Given the description of an element on the screen output the (x, y) to click on. 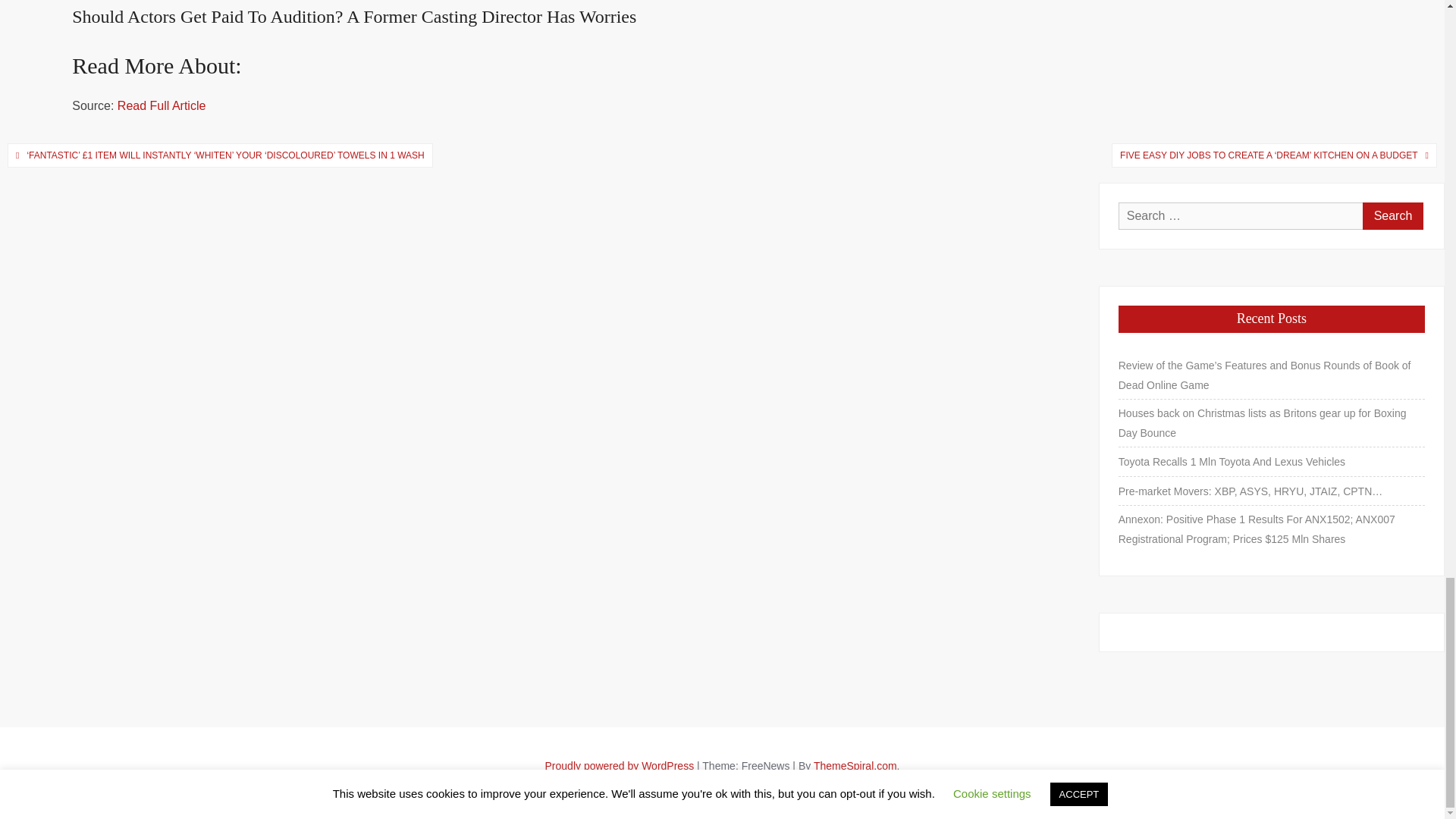
Search (1392, 216)
Search (1392, 216)
